Given the description of an element on the screen output the (x, y) to click on. 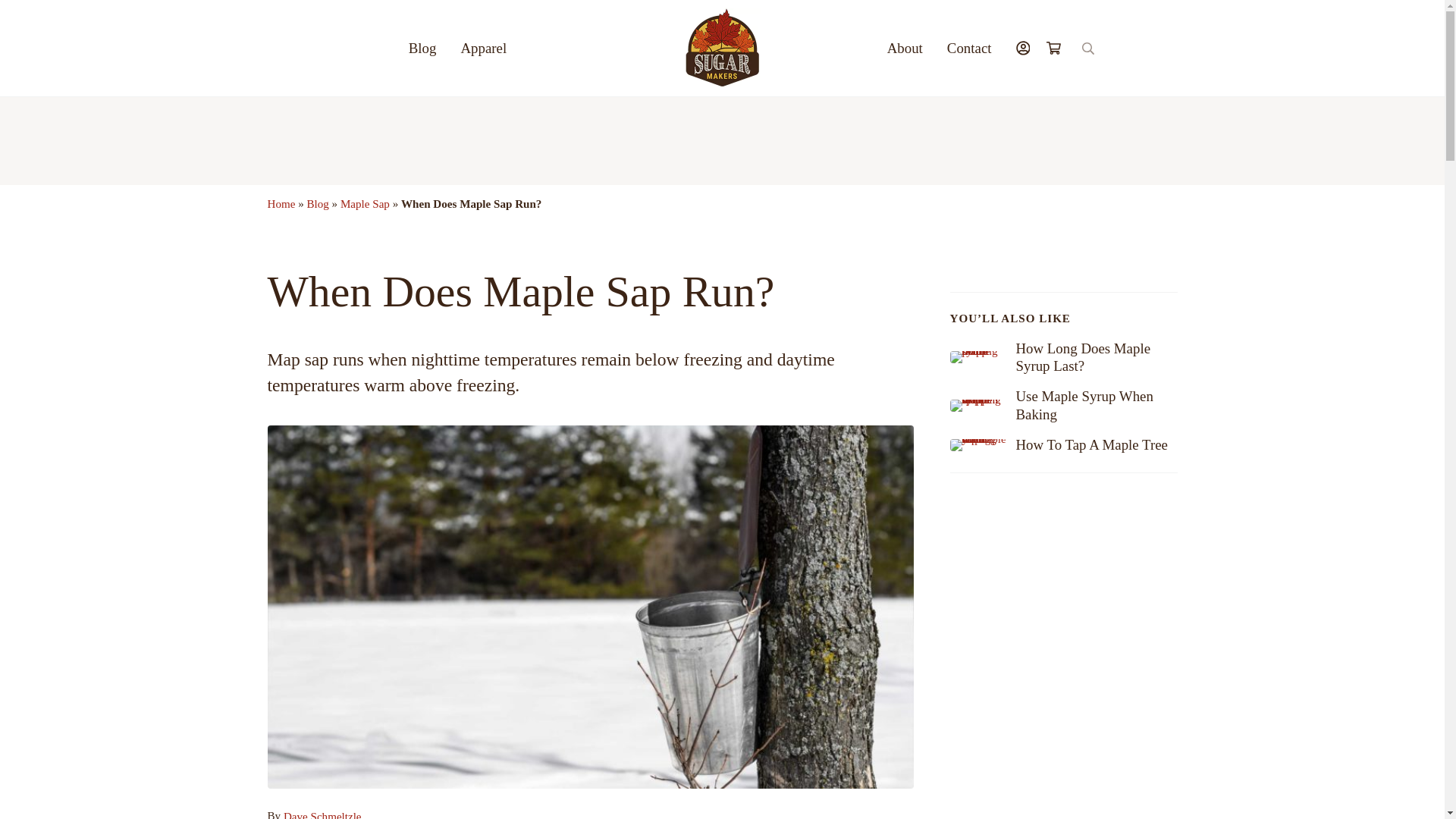
Home (280, 203)
Contact (969, 47)
How Long Does Maple Syrup Last? (1095, 357)
View Cart (1059, 47)
Use Maple Syrup When Baking (1095, 405)
Maple Sap (365, 203)
Learn about SugarMakers (904, 47)
My Account (1023, 47)
Blog (317, 203)
Maple Syrup Resources and Articles (422, 47)
